Given the description of an element on the screen output the (x, y) to click on. 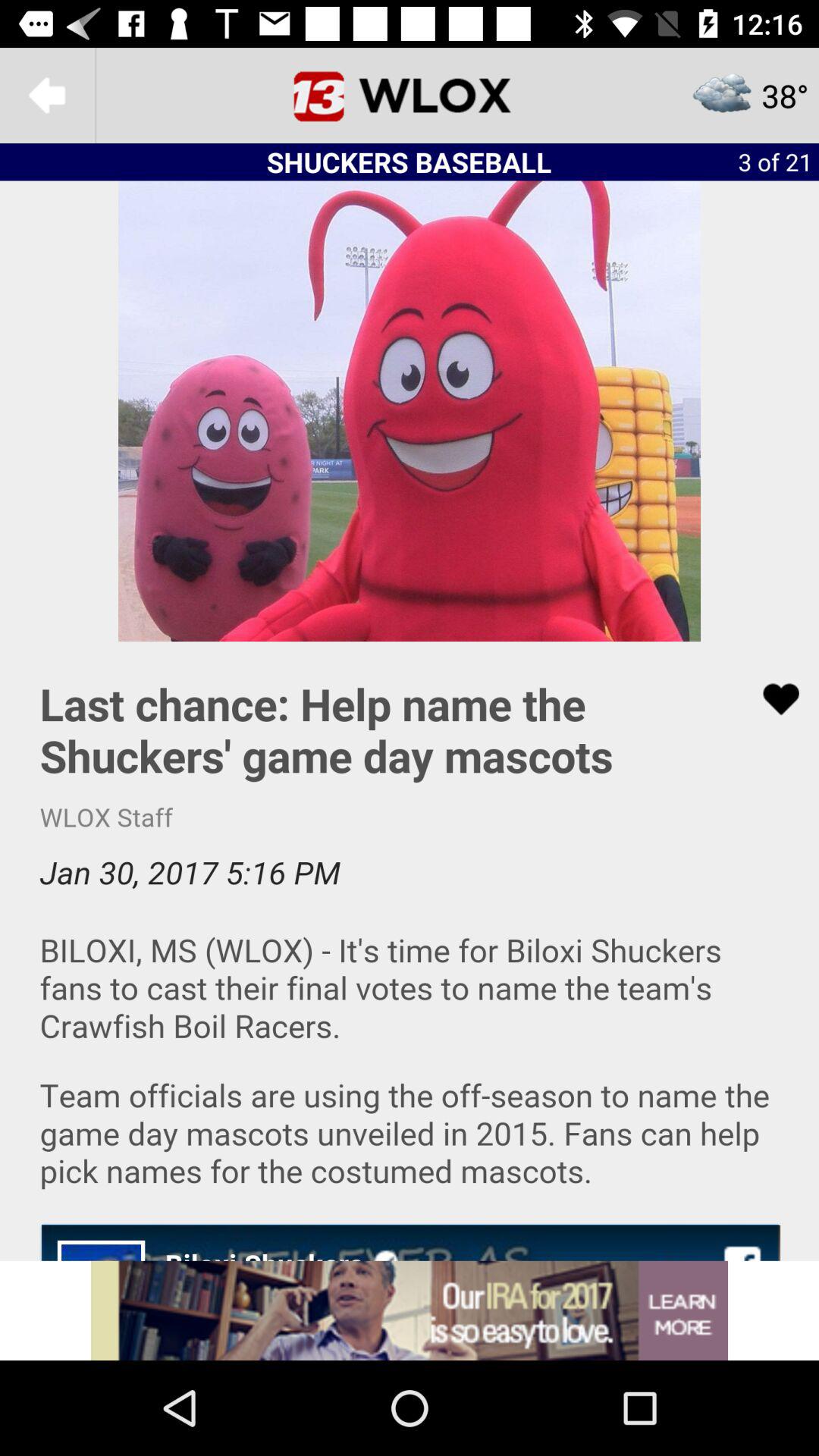
description of the news (409, 950)
